Given the description of an element on the screen output the (x, y) to click on. 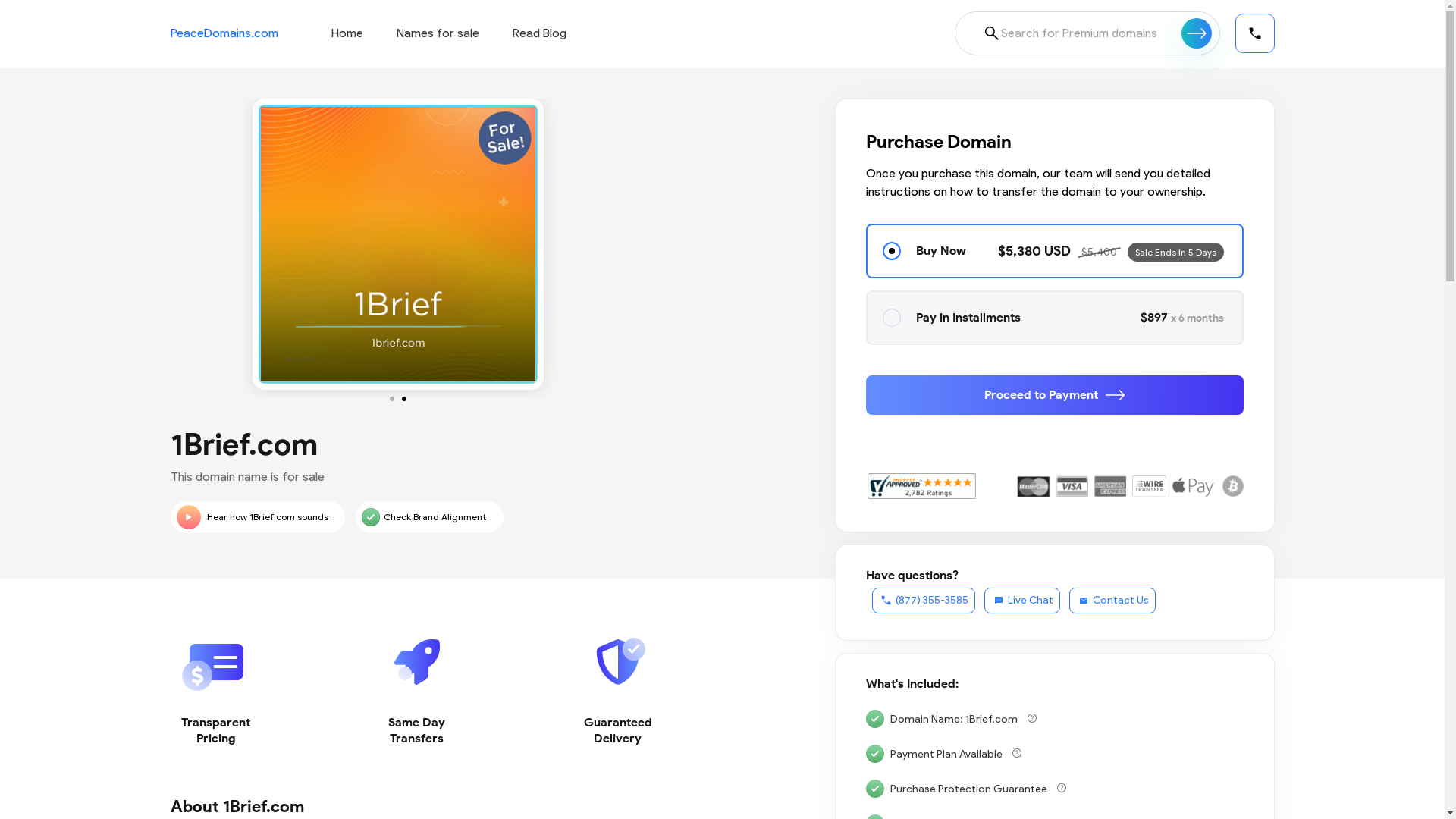
Check Brand Alignment Element type: text (428, 517)
Live Chat Element type: text (1022, 600)
(877) 355-3585 Element type: text (923, 600)
Proceed to Payment Element type: text (1054, 394)
Home Element type: text (346, 33)
PeaceDomains.com Element type: text (223, 33)
Buy Now
$5,380 USD $5,400 Sale Ends In 5 Days Element type: text (1054, 250)
Hear how 1Brief.com sounds Element type: text (256, 517)
Names for sale Element type: text (436, 33)
Contact Us Element type: text (1112, 600)
Read Blog Element type: text (539, 33)
